Given the description of an element on the screen output the (x, y) to click on. 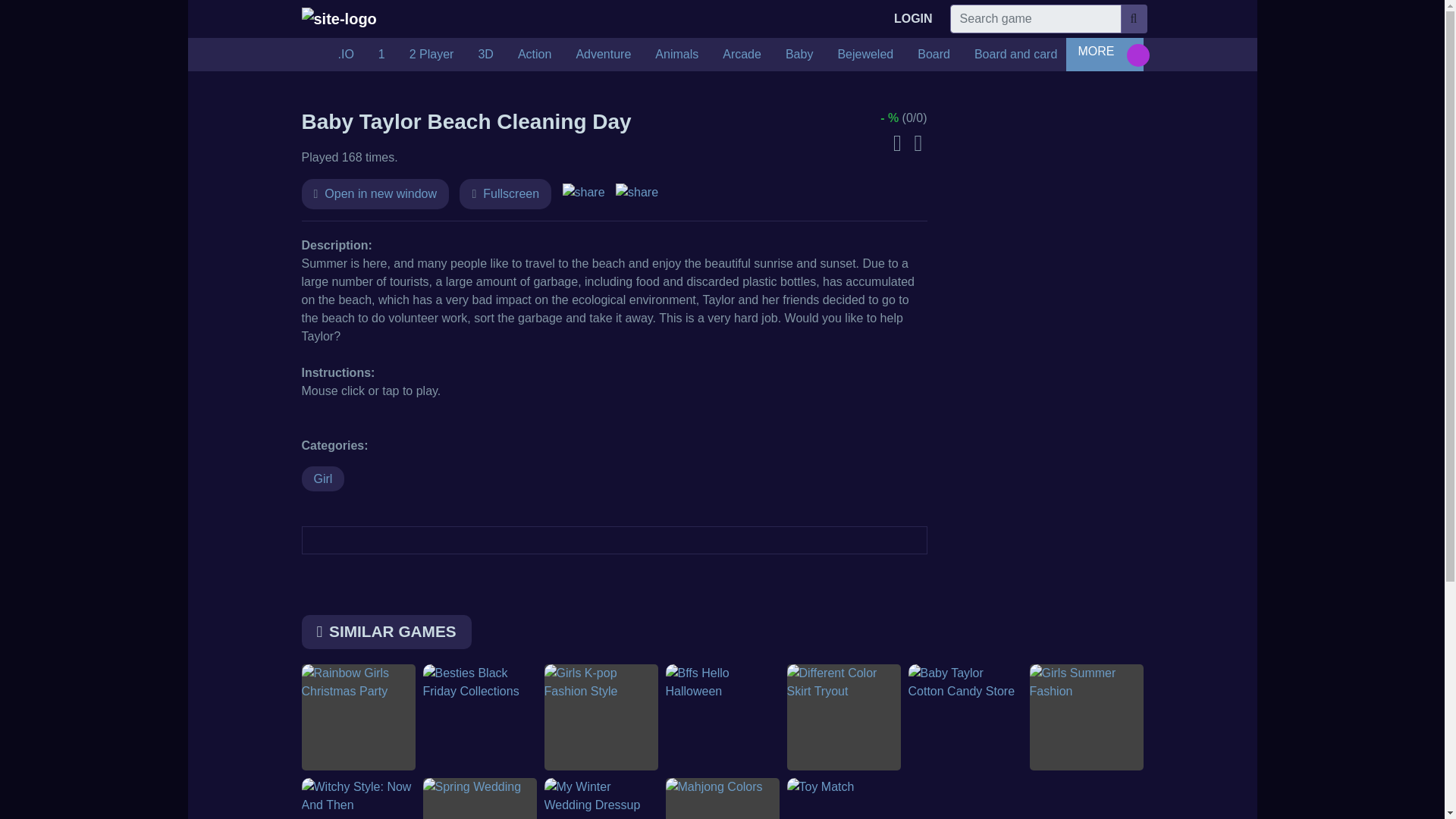
Arcade (741, 54)
Action (534, 54)
Adventure (603, 54)
Board (933, 54)
Animals (676, 54)
Board and card (1015, 54)
2 Player (431, 54)
LOGIN (913, 19)
3D (485, 54)
.IO (346, 54)
Bejeweled (865, 54)
1 (381, 54)
Baby (799, 54)
